Given the description of an element on the screen output the (x, y) to click on. 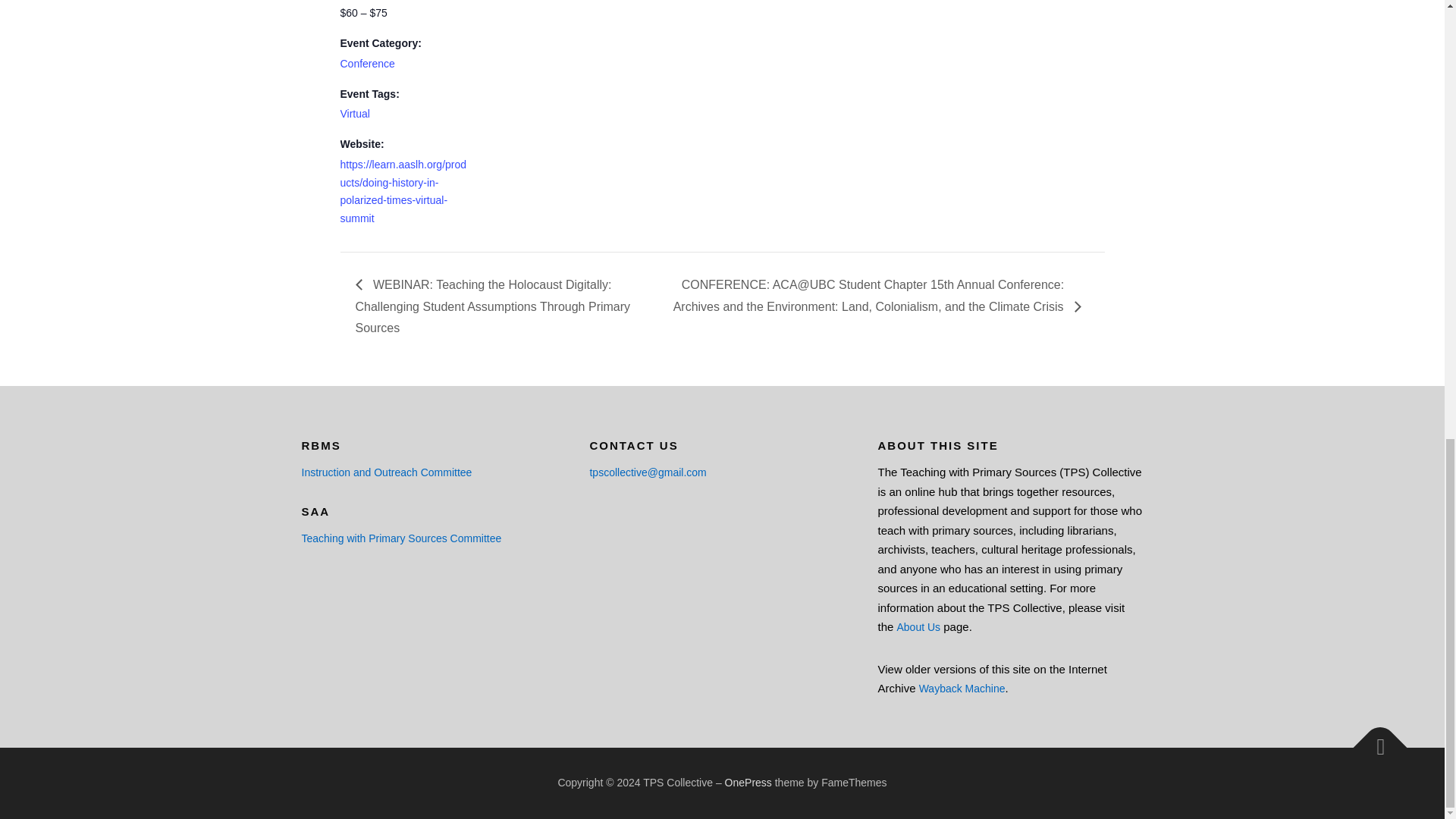
Instruction and Outreach Committee (386, 472)
Conference (366, 63)
Teaching with Primary Sources Committee (401, 538)
Virtual (354, 113)
Back To Top (1372, 740)
